Given the description of an element on the screen output the (x, y) to click on. 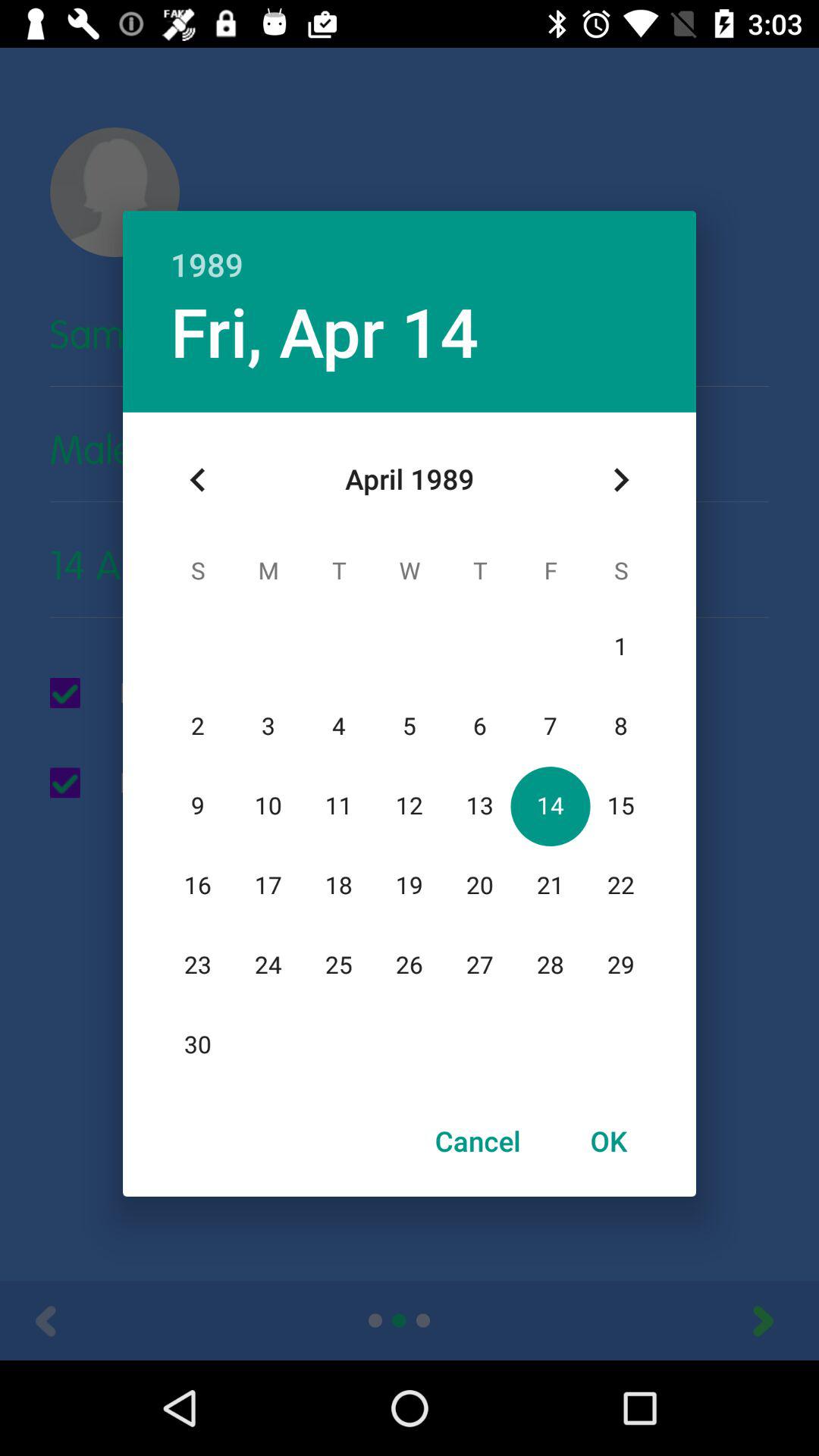
click icon below the 1989 item (620, 479)
